Given the description of an element on the screen output the (x, y) to click on. 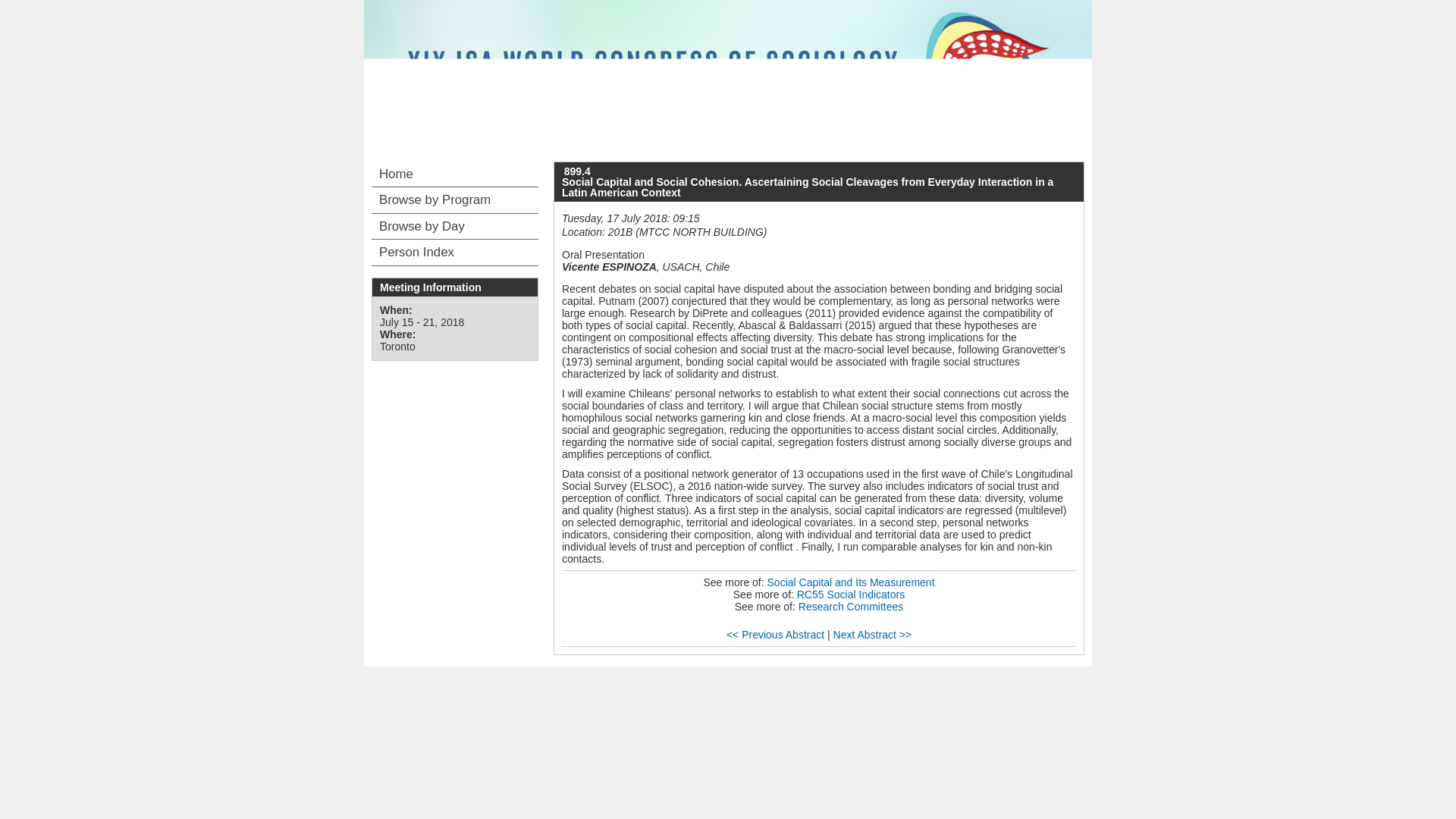
Research Committees (850, 606)
Person Index (454, 252)
Home (454, 174)
Social Capital and Its Measurement (850, 582)
Browse by Day (454, 226)
Browse by Program (454, 199)
RC55 Social Indicators (850, 594)
